Given the description of an element on the screen output the (x, y) to click on. 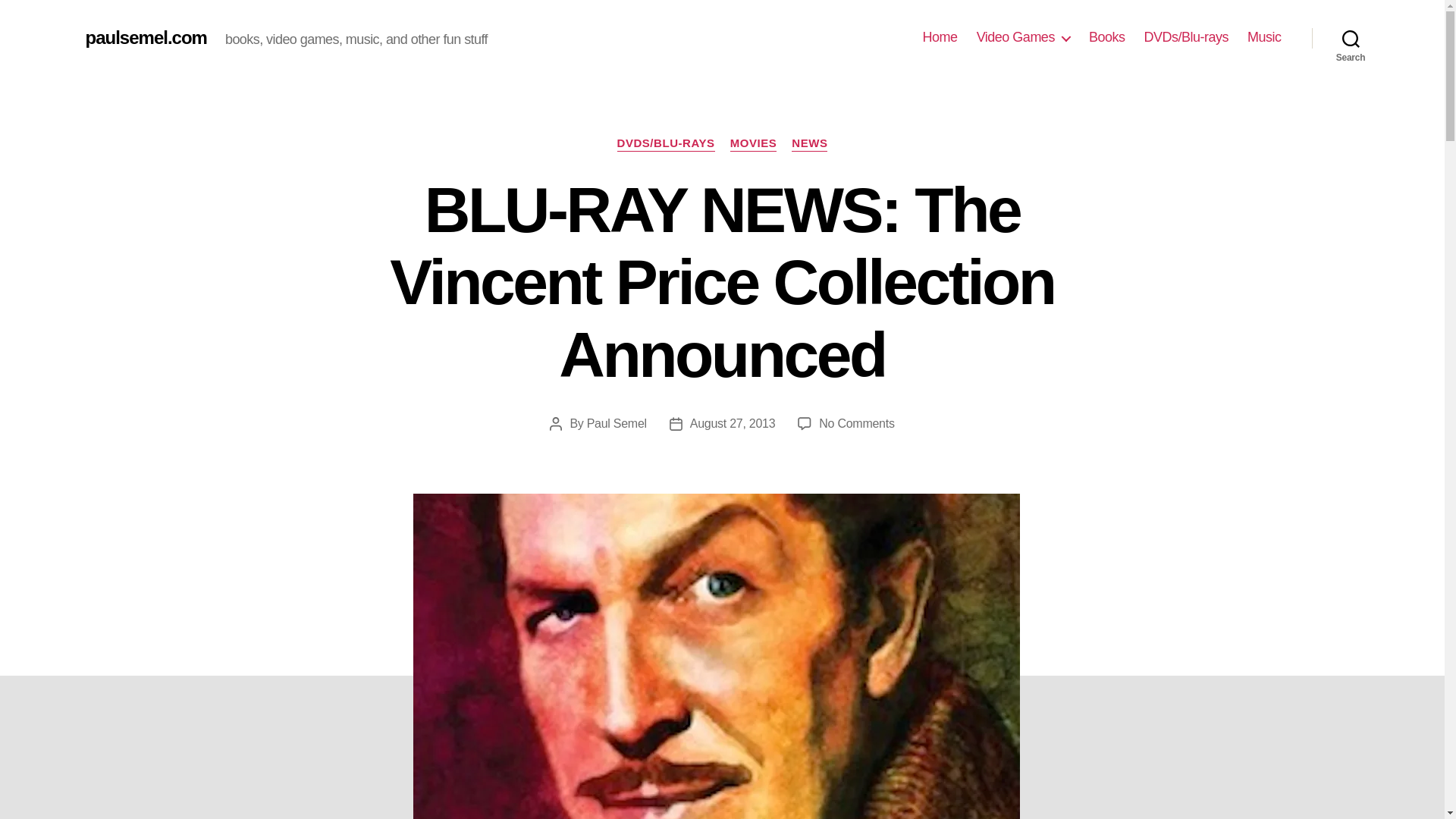
Books (1107, 37)
Home (940, 37)
NEWS (809, 143)
Video Games (1023, 37)
Search (1350, 37)
Music (1264, 37)
MOVIES (753, 143)
paulsemel.com (145, 37)
